Given the description of an element on the screen output the (x, y) to click on. 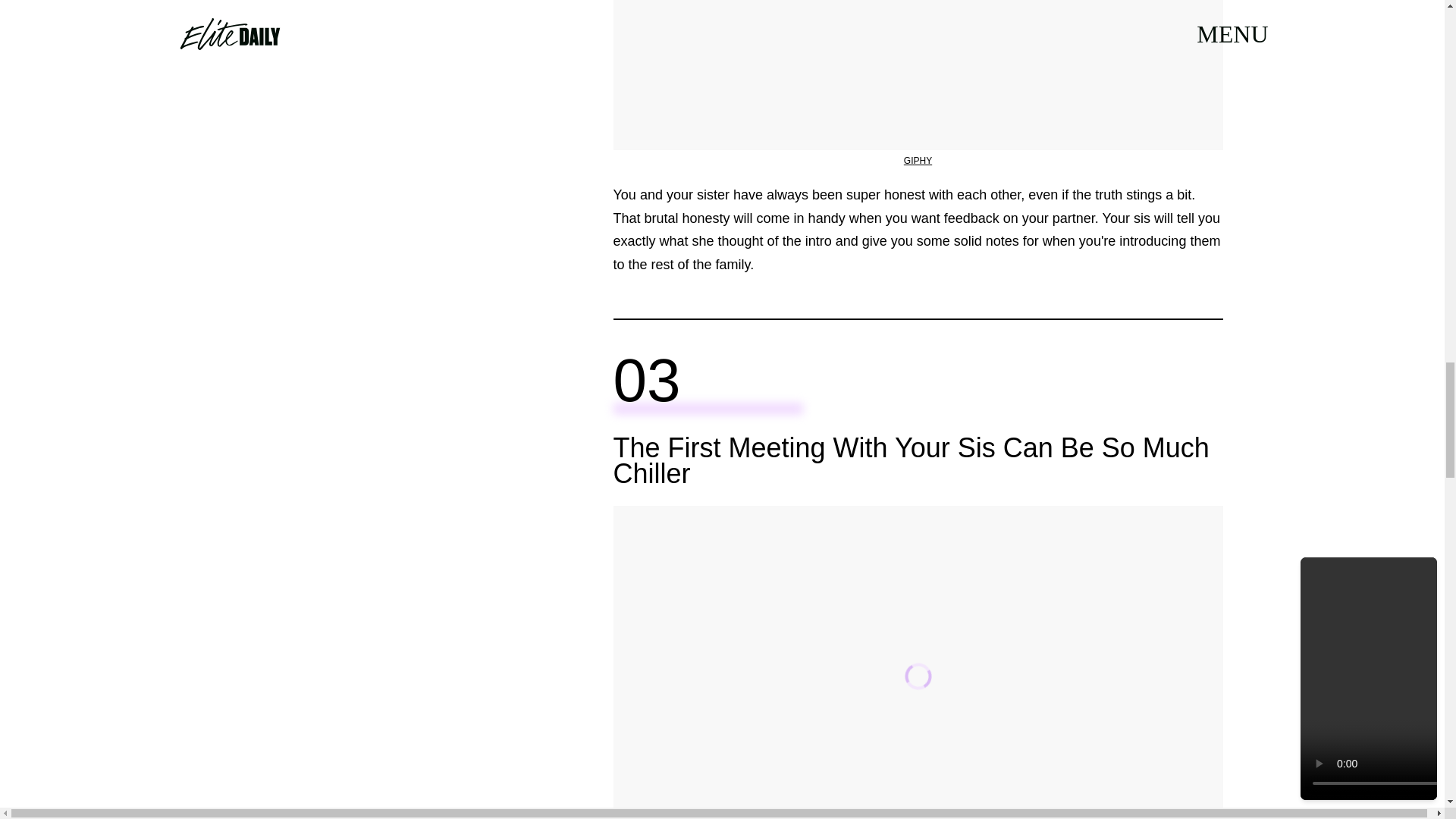
GIPHY (917, 160)
